Given the description of an element on the screen output the (x, y) to click on. 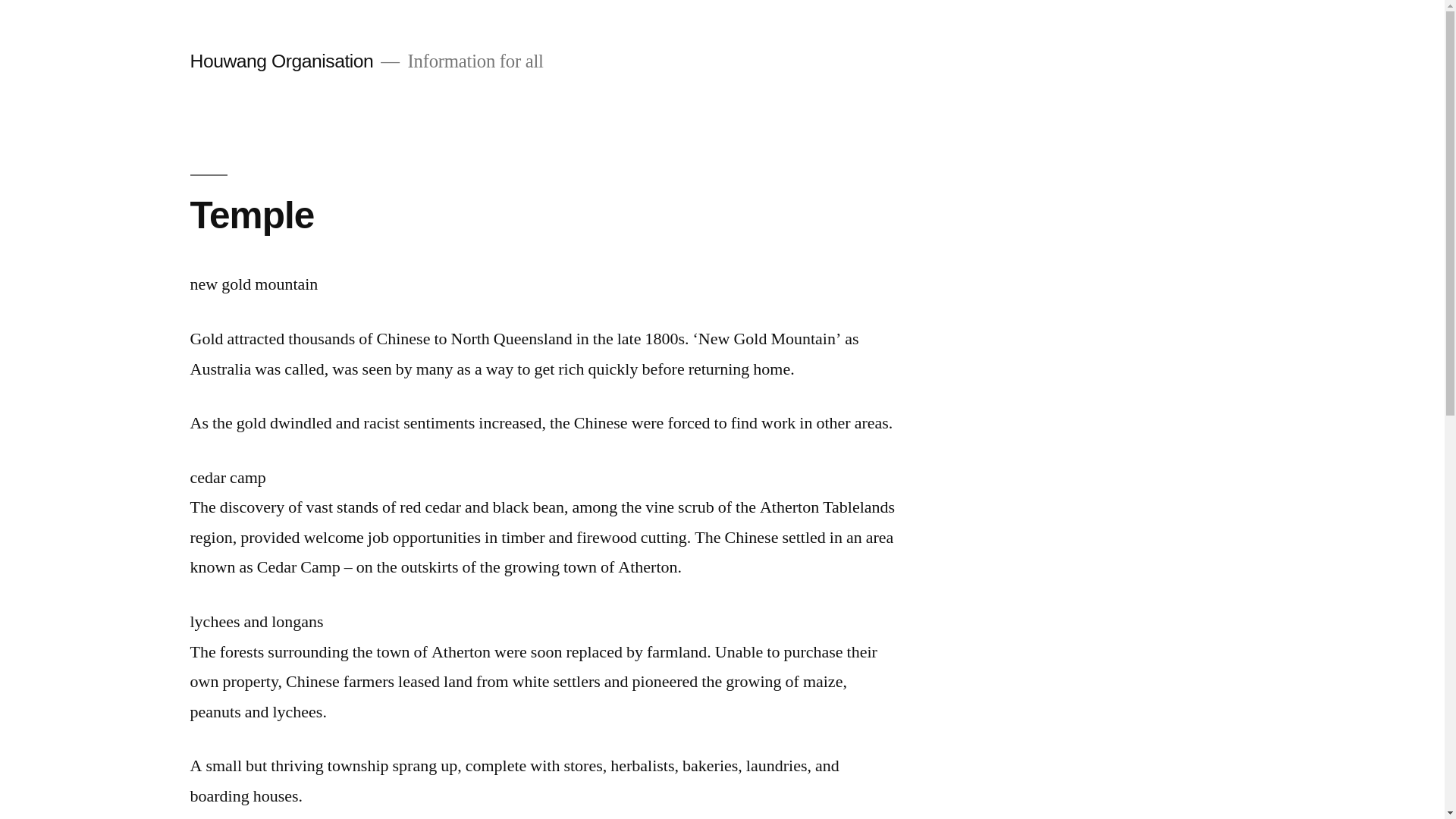
Temple Element type: text (251, 214)
Houwang Organisation Element type: text (281, 60)
